Given the description of an element on the screen output the (x, y) to click on. 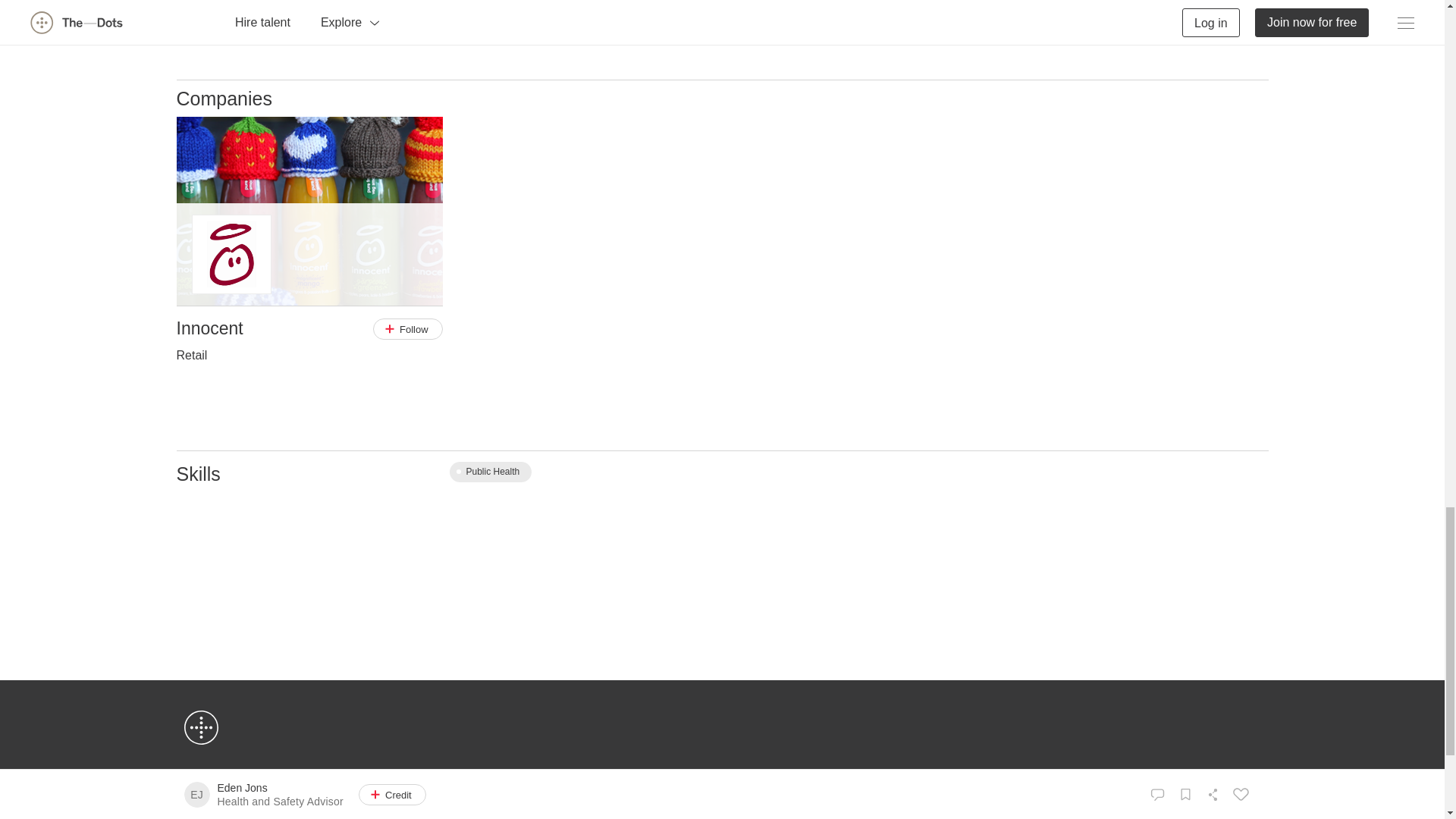
White Label App (219, 816)
Follow (407, 328)
FAQ (731, 801)
About The Dots (217, 801)
Public Health (489, 471)
Hire talent (474, 801)
Post jobs (472, 816)
